Given the description of an element on the screen output the (x, y) to click on. 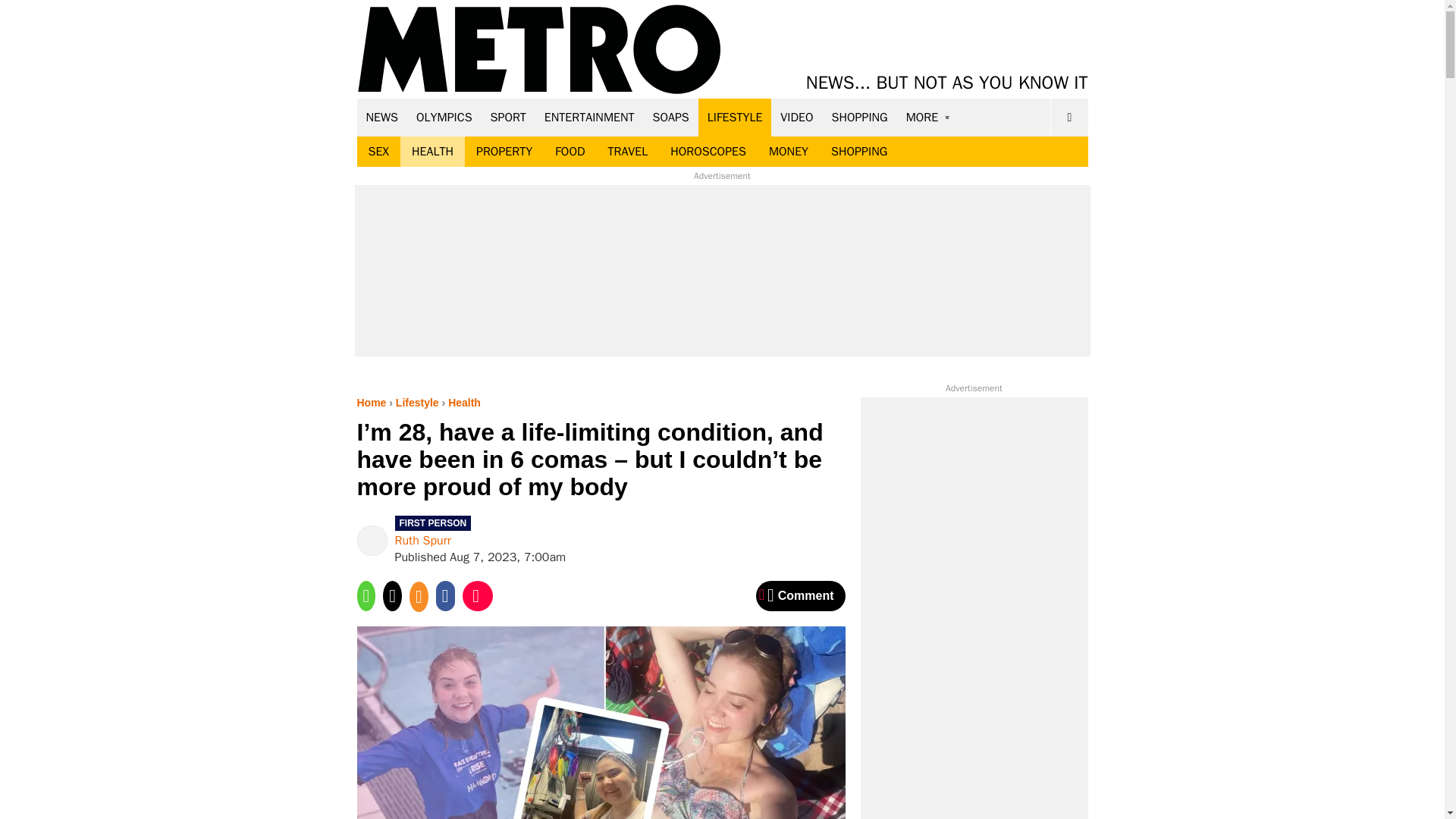
NEWS (381, 117)
FOOD (569, 151)
ENTERTAINMENT (589, 117)
HEALTH (432, 151)
PROPERTY (503, 151)
OLYMPICS (444, 117)
SEX (377, 151)
SOAPS (670, 117)
LIFESTYLE (734, 117)
SPORT (508, 117)
